Given the description of an element on the screen output the (x, y) to click on. 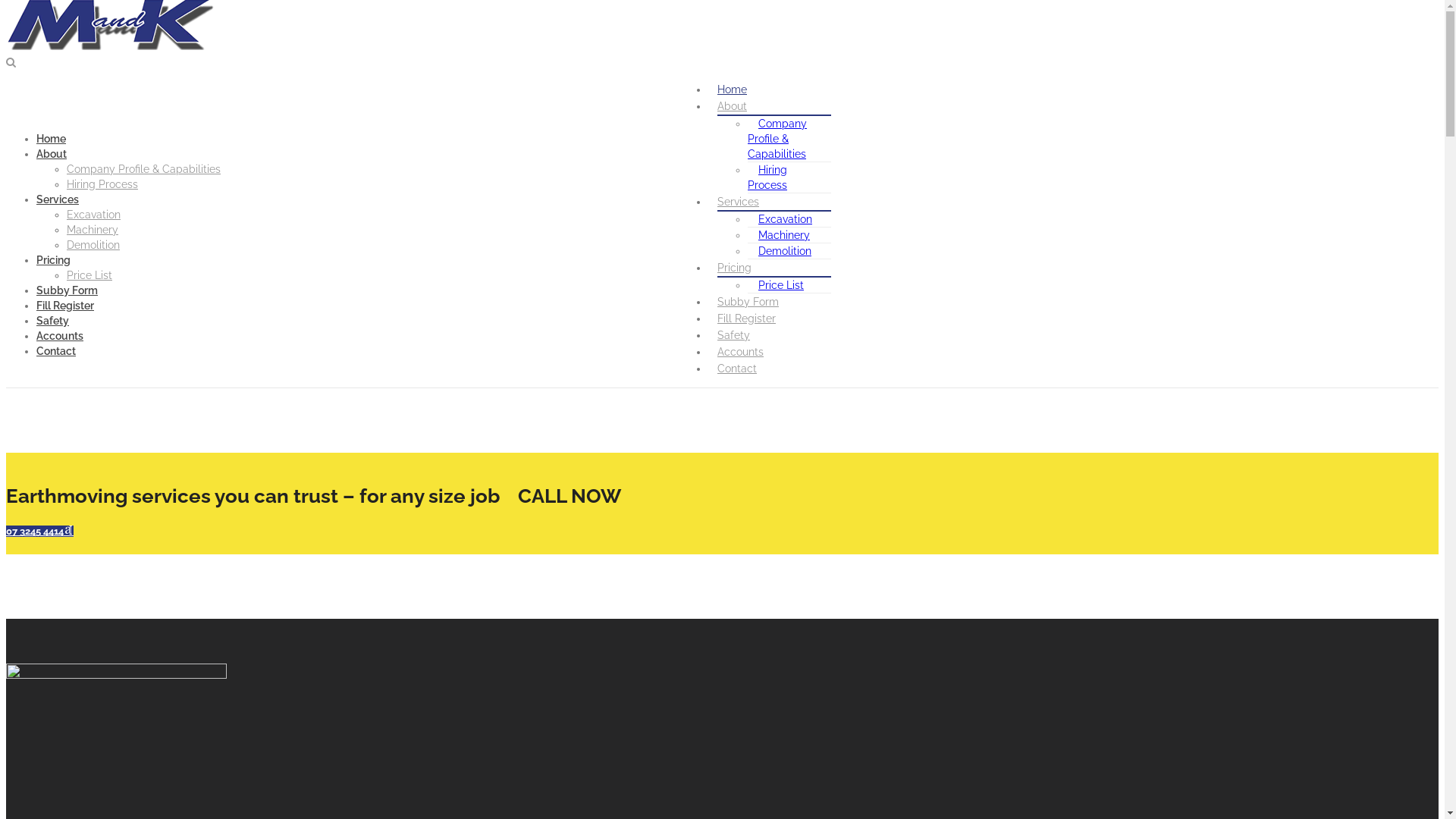
Subby Form Element type: text (66, 290)
Hiring Process Element type: text (772, 177)
Demolition Element type: text (92, 244)
Home Element type: text (731, 89)
Home Element type: text (50, 138)
Search Element type: text (138, 13)
Services Element type: text (738, 201)
Subby Form Element type: text (747, 301)
Excavation Element type: text (784, 218)
Safety Element type: text (52, 320)
Machinery Element type: text (92, 229)
Contact Element type: text (736, 368)
Safety Element type: text (733, 335)
About Element type: text (731, 106)
07 3245 4414 Element type: text (39, 530)
Demolition Element type: text (784, 250)
Accounts Element type: text (59, 335)
Pricing Element type: text (53, 260)
Excavation Element type: text (93, 214)
Company Profile & Capabilities Element type: text (781, 138)
Machinery Element type: text (783, 234)
Hiring Process Element type: text (102, 184)
Price List Element type: text (780, 284)
Services Element type: text (57, 199)
Price List Element type: text (89, 275)
Company Profile & Capabilities Element type: text (143, 169)
Pricing Element type: text (734, 267)
About Element type: text (51, 153)
Fill Register Element type: text (65, 305)
Accounts Element type: text (740, 351)
Fill Register Element type: text (746, 318)
Contact Element type: text (55, 351)
